Given the description of an element on the screen output the (x, y) to click on. 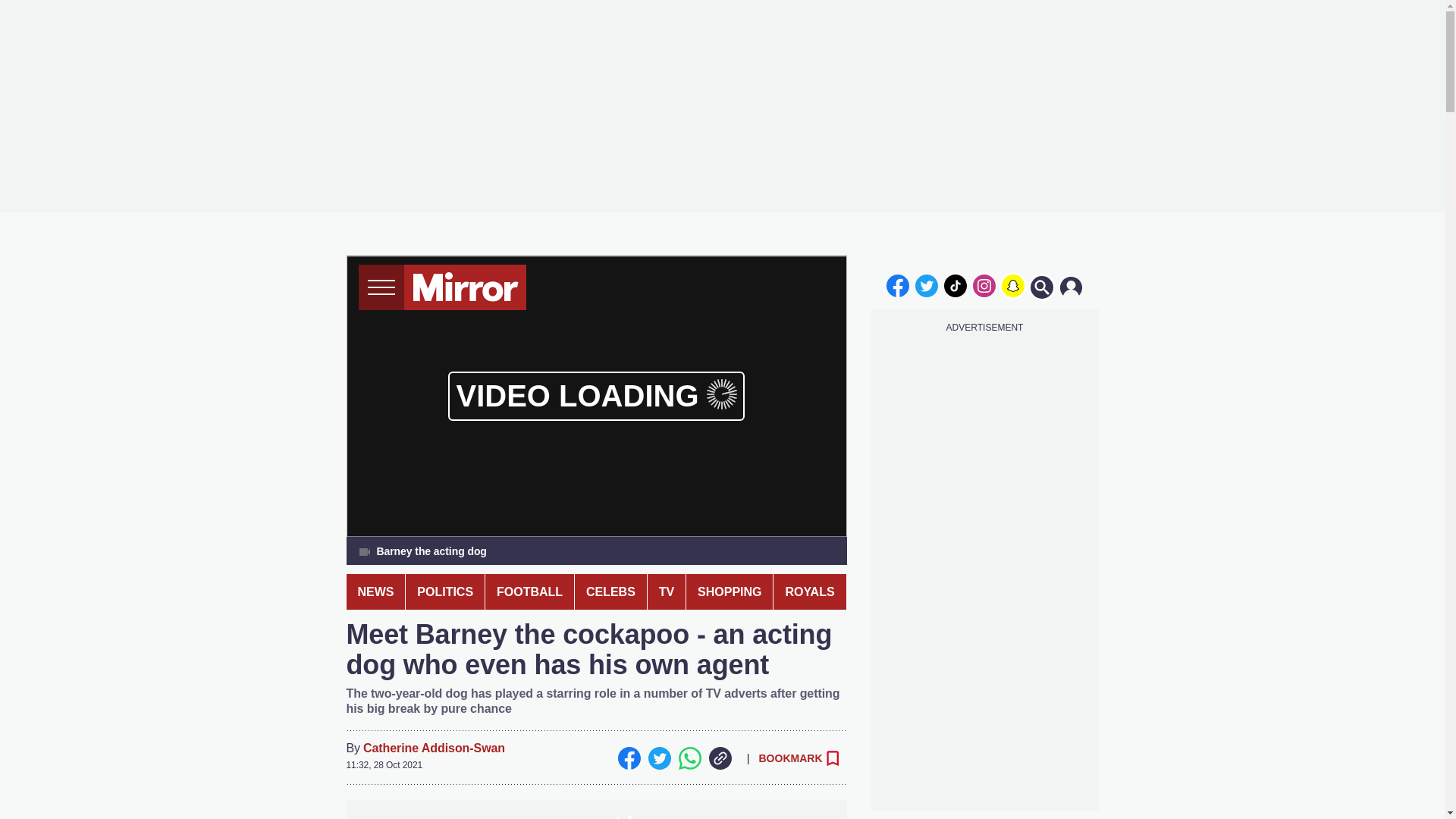
POLITICS (445, 591)
NEWS (375, 591)
Catherine Addison-Swan (433, 748)
Facebook (628, 757)
FOOTBALL (528, 591)
instagram (984, 285)
tiktok (955, 285)
snapchat (1012, 285)
Whatsapp (689, 757)
twitter (926, 285)
